Given the description of an element on the screen output the (x, y) to click on. 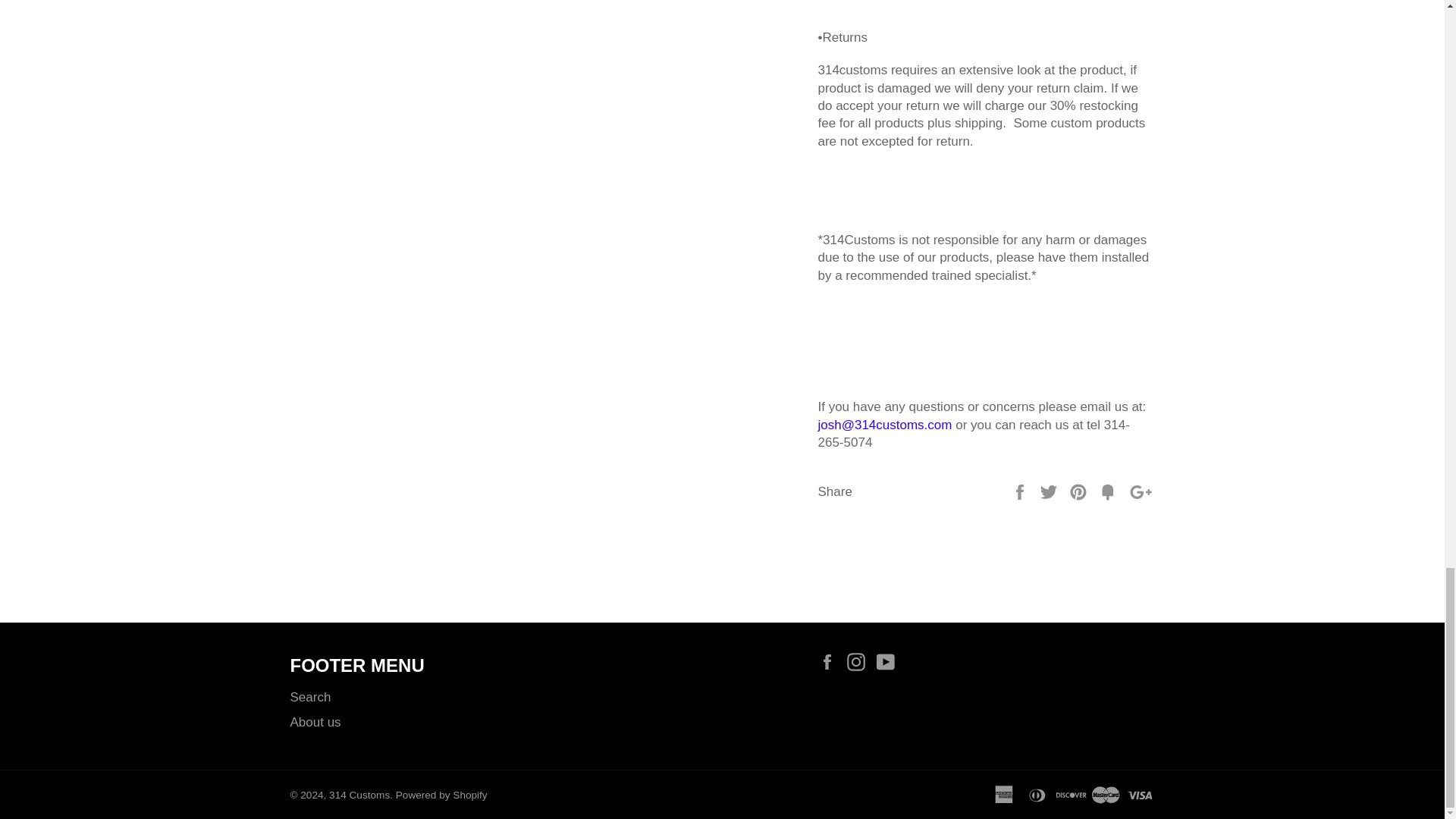
314 Customs on Instagram (859, 661)
314 Customs on Facebook (829, 661)
314 Customs on YouTube (889, 661)
